Given the description of an element on the screen output the (x, y) to click on. 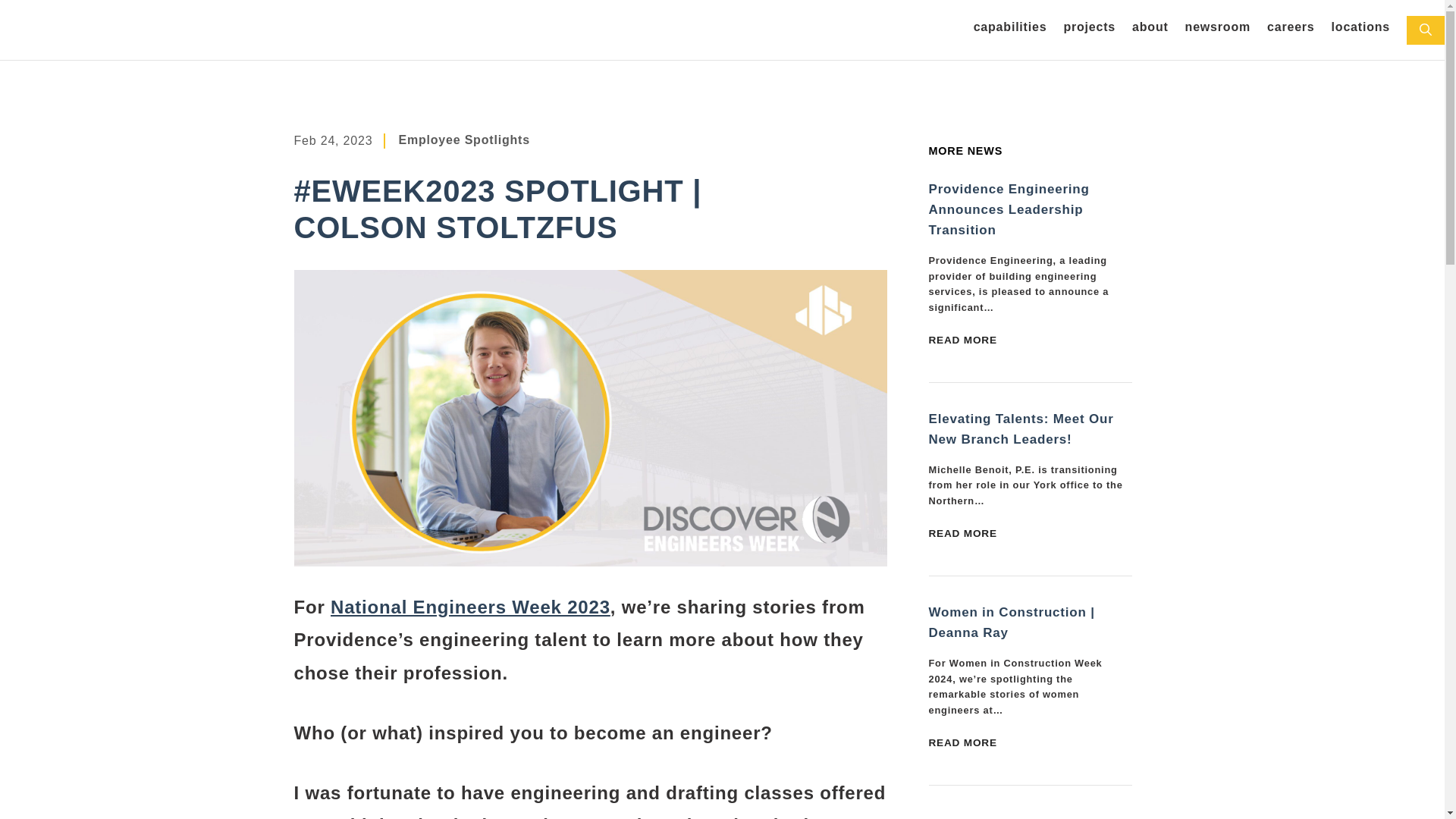
projects (1088, 29)
locations (1361, 29)
careers (1290, 29)
about (1150, 29)
READ MORE (961, 742)
newsroom (1217, 29)
capabilities (1010, 29)
Providence Engineering Announces Leadership Transition (961, 340)
National Engineers Week 2023 (470, 607)
Employee Spotlights (463, 139)
Elevating Talents: Meet Our New Branch Leaders! (961, 533)
READ MORE (961, 533)
READ MORE (961, 340)
Elevating Talents: Meet Our New Branch Leaders! (1020, 428)
Providence Engineering Announces Leadership Transition (1008, 209)
